Given the description of an element on the screen output the (x, y) to click on. 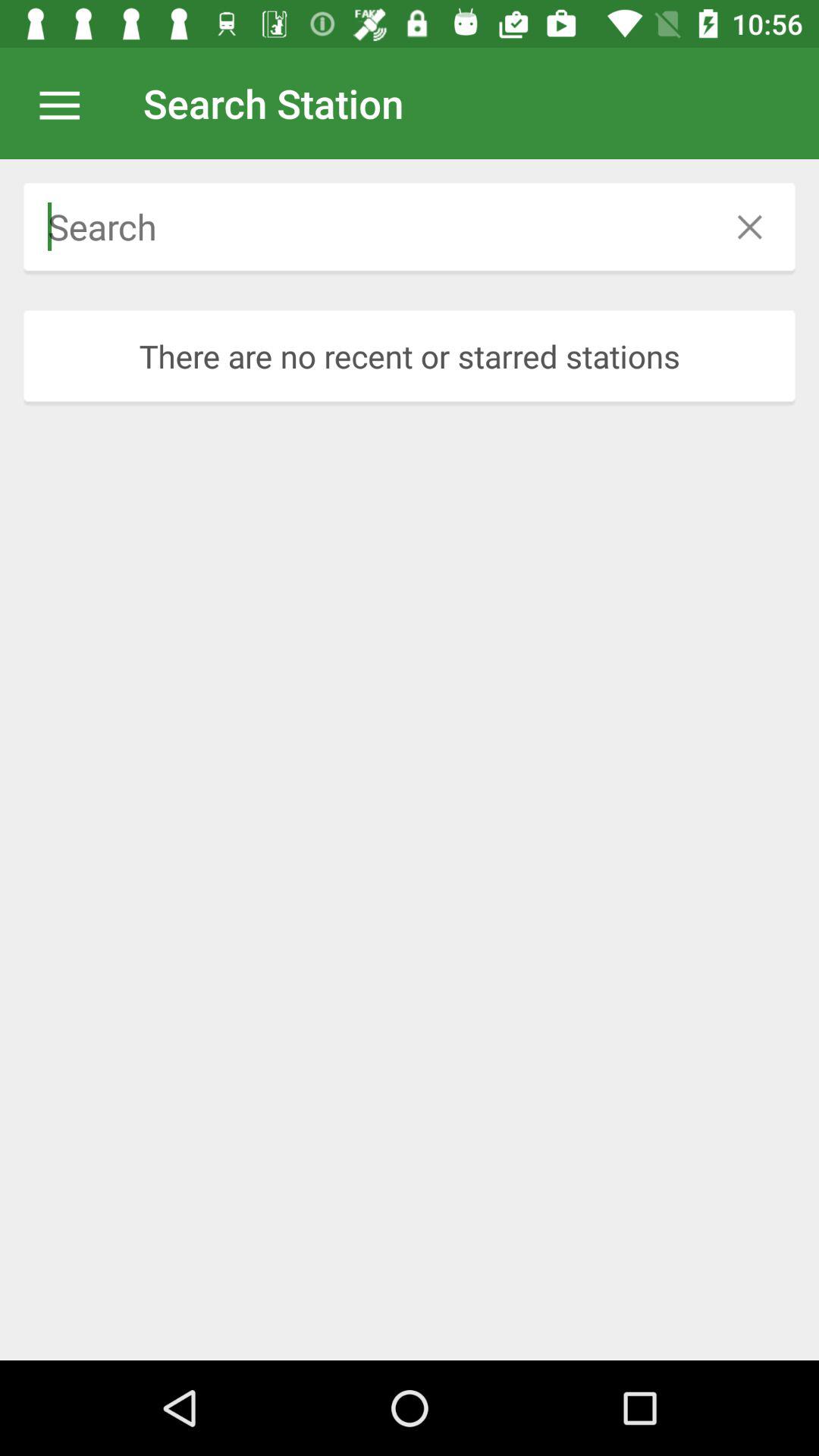
open the there are no icon (409, 355)
